Given the description of an element on the screen output the (x, y) to click on. 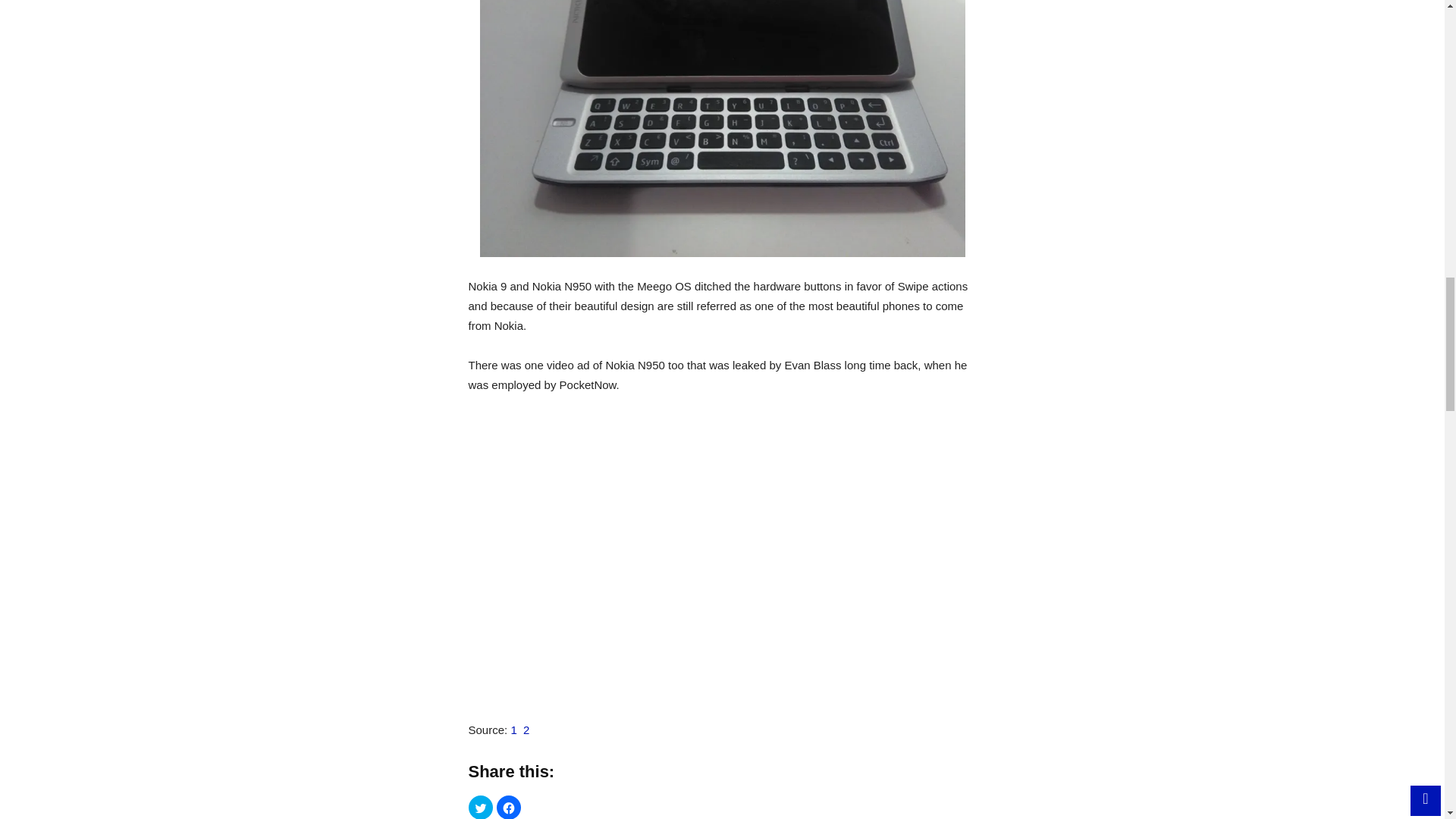
Click to share on Facebook (507, 807)
Click to share on Twitter (480, 807)
Click to share on Mastodon (536, 807)
